Given the description of an element on the screen output the (x, y) to click on. 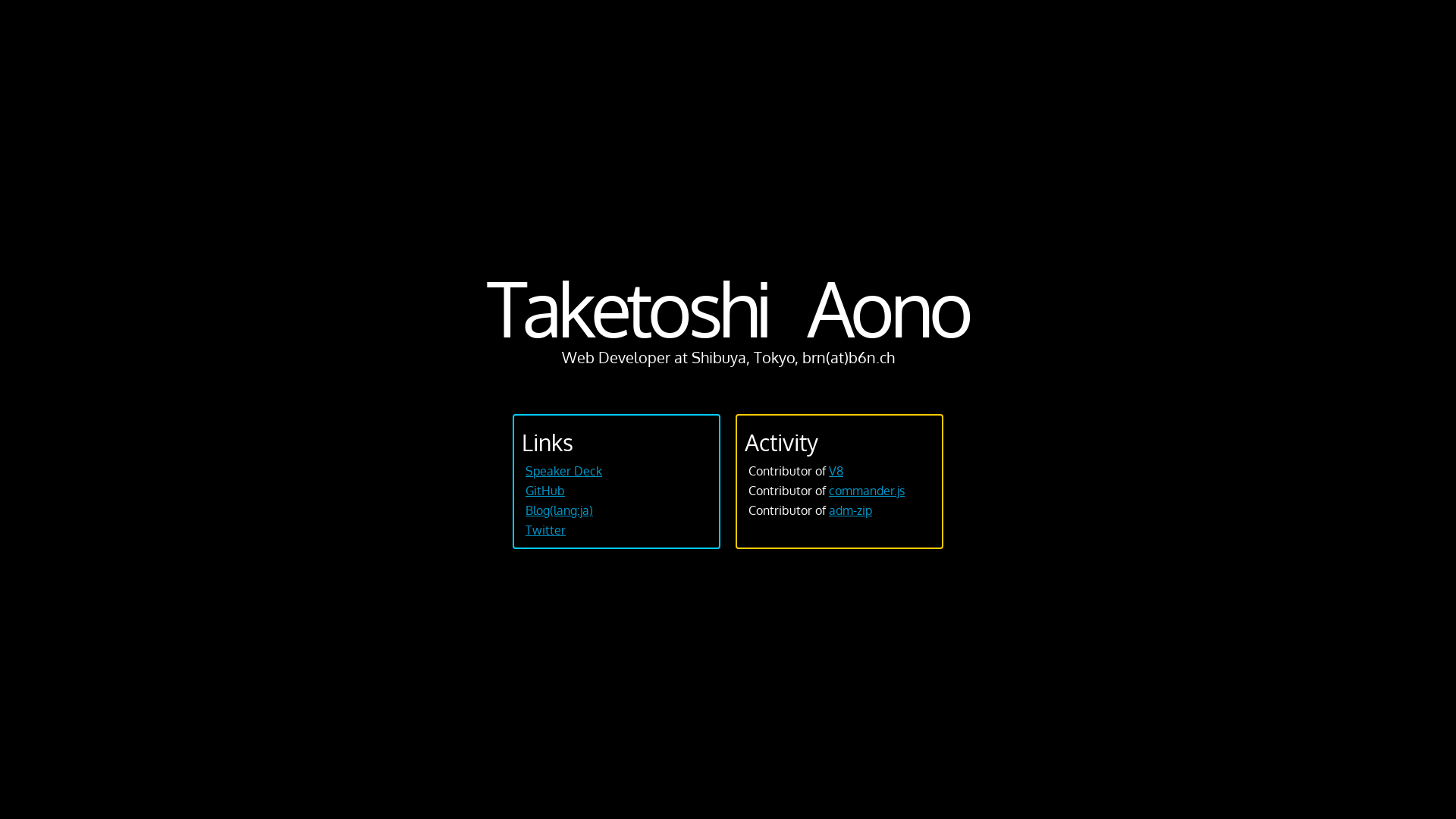
commander.js Element type: text (866, 490)
adm-zip Element type: text (850, 509)
GitHub Element type: text (544, 490)
Twitter Element type: text (545, 529)
V8 Element type: text (835, 470)
Blog(lang:ja) Element type: text (559, 509)
Speaker Deck Element type: text (563, 470)
